Given the description of an element on the screen output the (x, y) to click on. 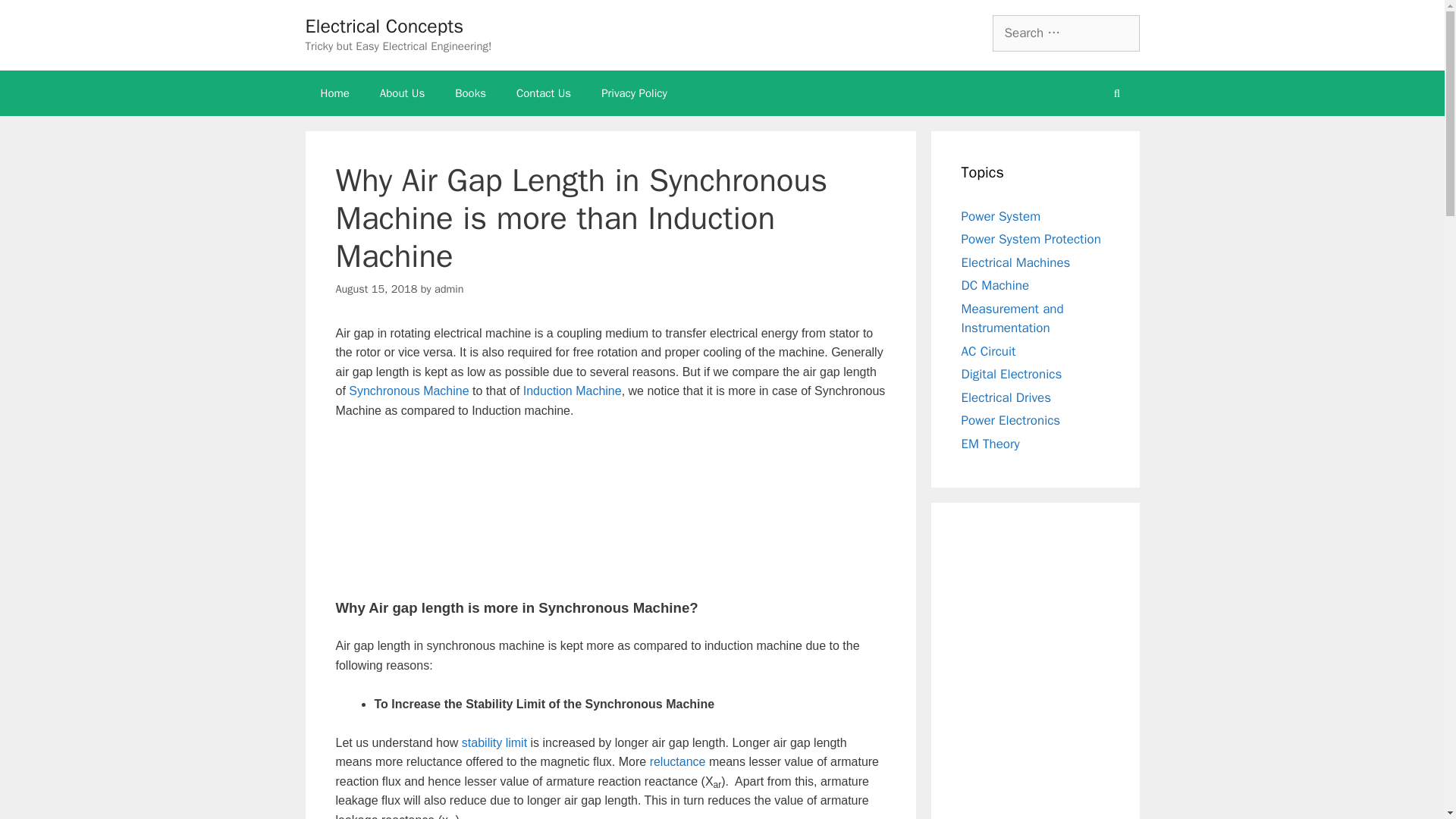
Home (334, 92)
reluctance (677, 761)
Advertisement (609, 508)
Induction Machine (571, 390)
Electrical Machines (1015, 262)
Contact Us (543, 92)
Power System Protection (1030, 238)
Search for: (1064, 33)
Power System (1000, 215)
AC Circuit (988, 350)
Books (469, 92)
Privacy Policy (634, 92)
Electrical Concepts (383, 25)
DC Machine (994, 285)
Search (35, 18)
